Given the description of an element on the screen output the (x, y) to click on. 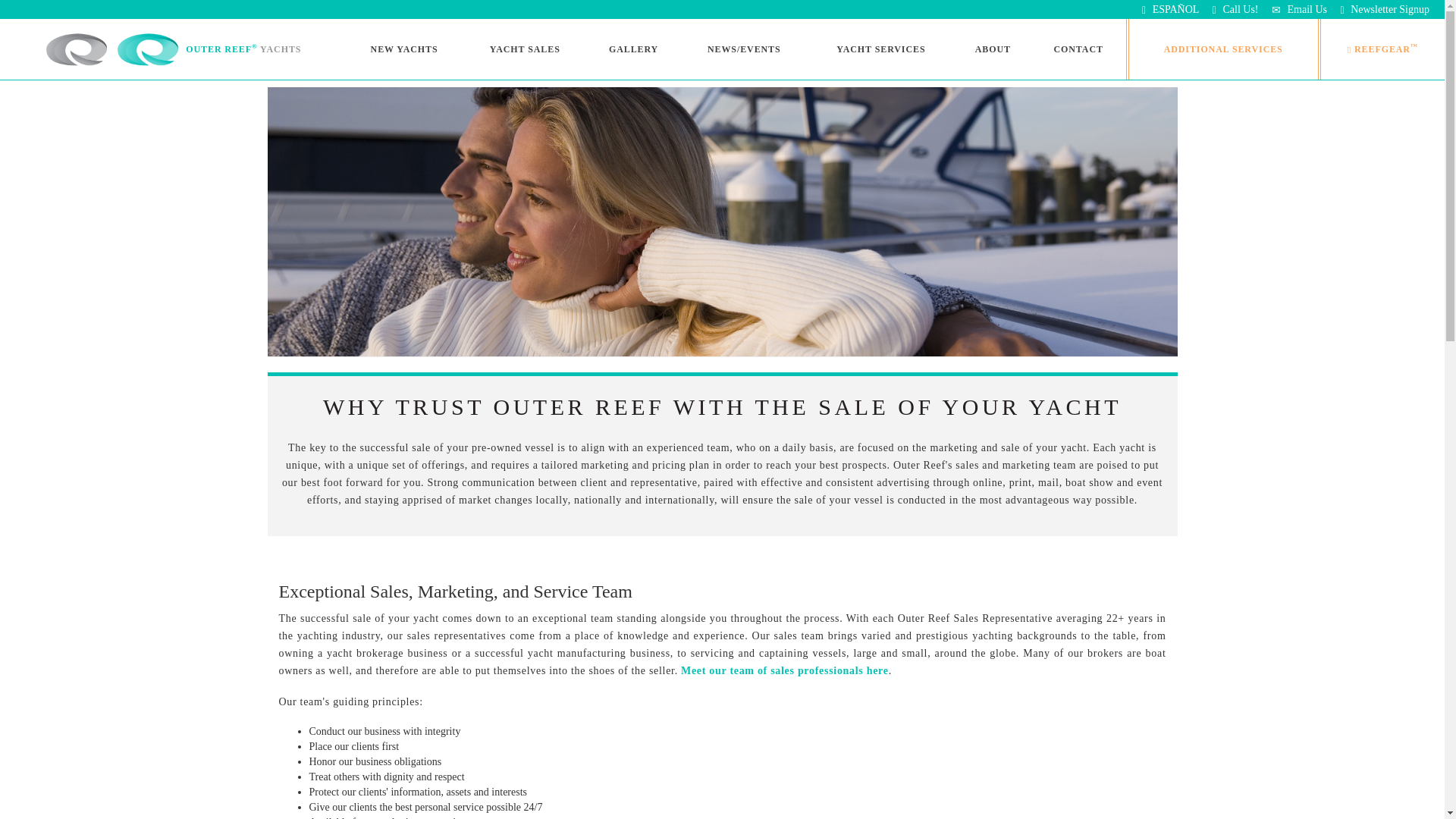
Newsletter Signup (1384, 8)
YACHT SALES (524, 48)
Call Us! (1235, 8)
NEW YACHTS (404, 48)
Email Us (1298, 8)
